Given the description of an element on the screen output the (x, y) to click on. 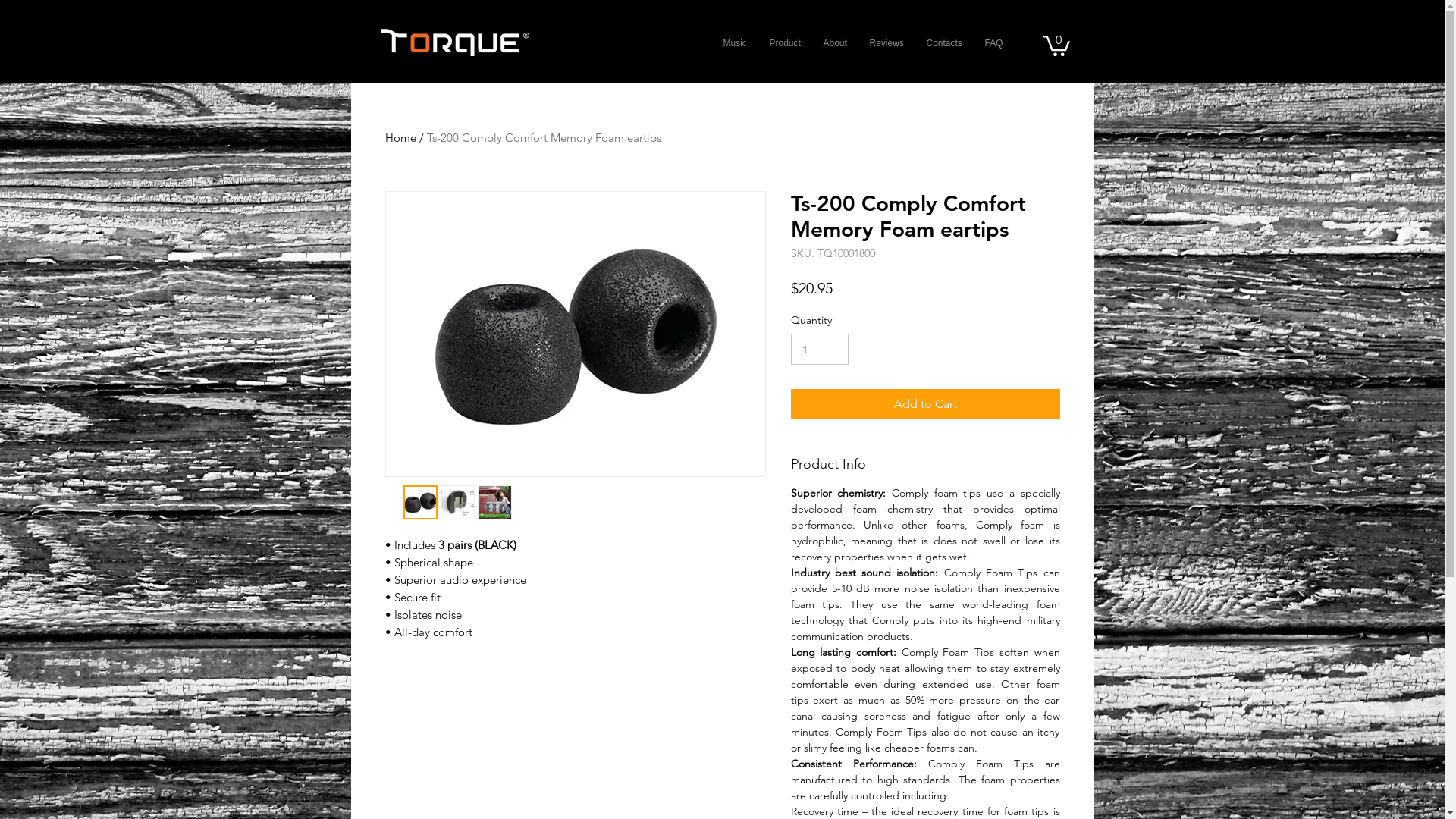
Home Element type: text (400, 137)
FAQ Element type: text (993, 43)
0 Element type: text (1055, 44)
Contacts Element type: text (943, 43)
Product Element type: text (785, 43)
About Element type: text (834, 43)
Ts-200 Comply Comfort Memory Foam eartips Element type: text (543, 137)
Add to Cart Element type: text (924, 404)
Music Element type: text (734, 43)
Reviews Element type: text (886, 43)
Product Info Element type: text (924, 463)
